Given the description of an element on the screen output the (x, y) to click on. 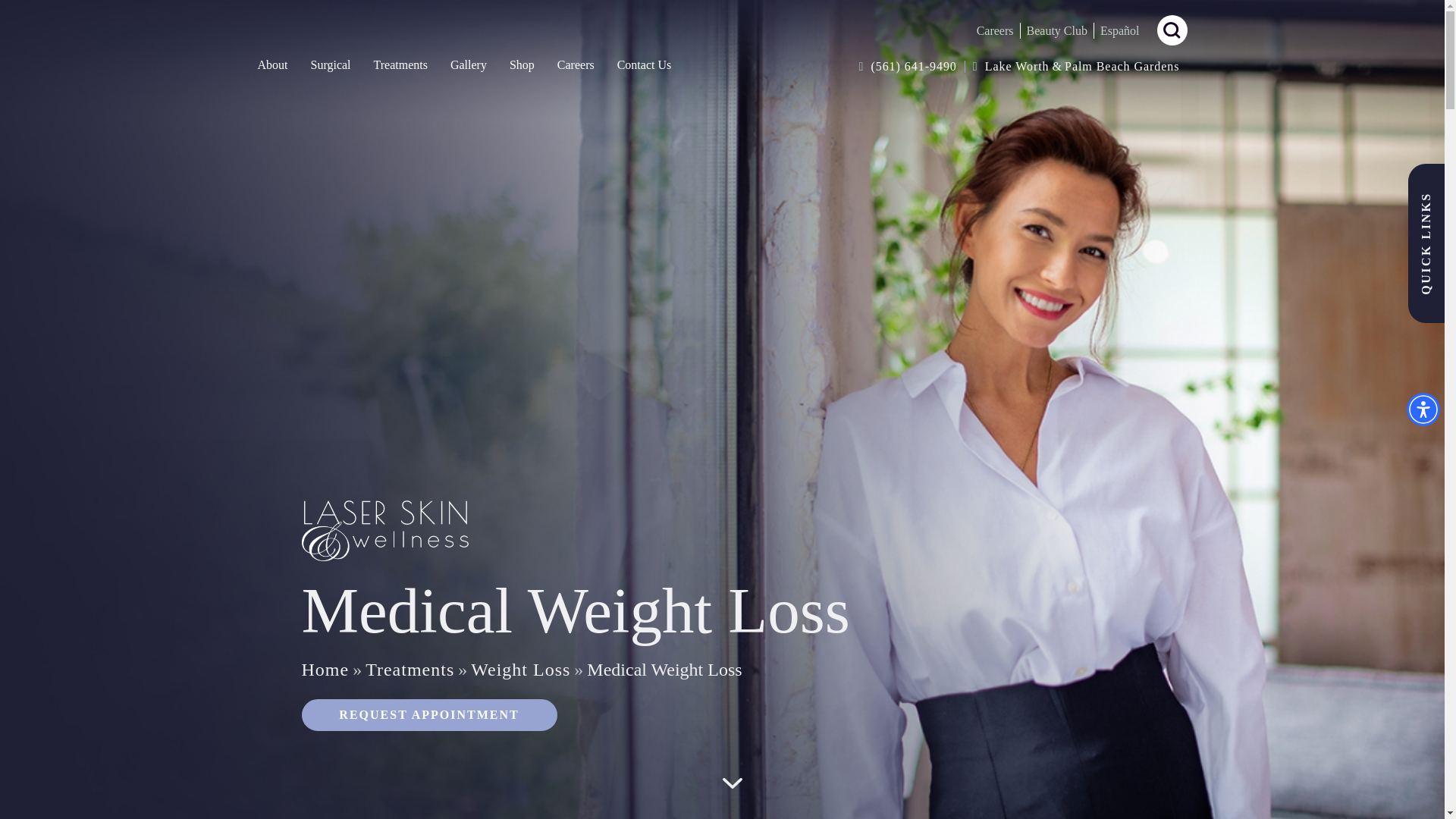
Accessibility Menu (1422, 409)
Treatments (401, 64)
